Given the description of an element on the screen output the (x, y) to click on. 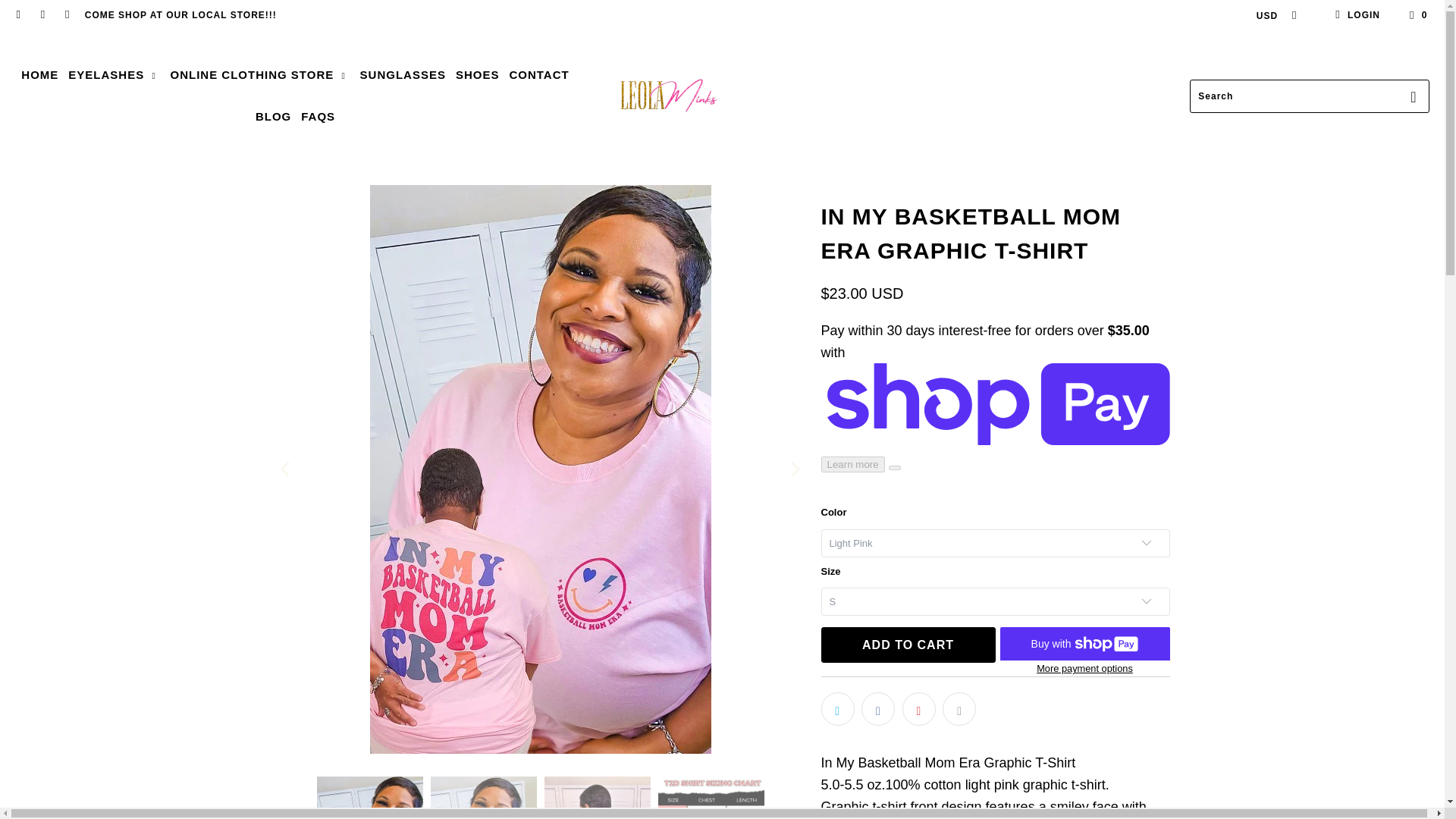
Email this to a friend (958, 708)
Leola Minks (668, 95)
Share this on Facebook (878, 708)
My Account  (1355, 15)
Leola Minks on YouTube (41, 14)
Share this on Pinterest (919, 708)
Leola Minks on Instagram (67, 14)
Share this on Twitter (837, 708)
Leola Minks on Facebook (17, 14)
